Given the description of an element on the screen output the (x, y) to click on. 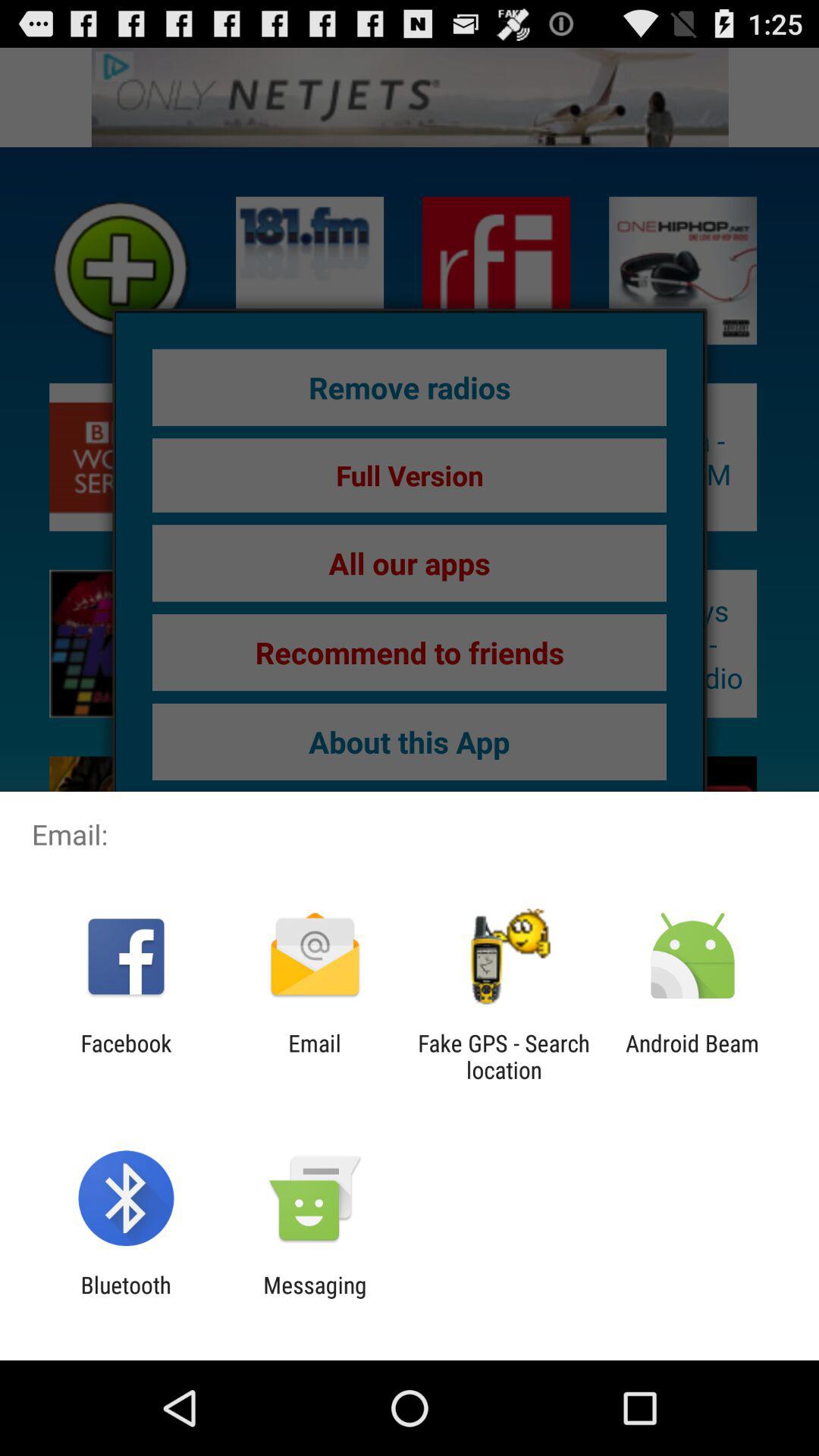
tap the app next to the messaging app (125, 1298)
